Given the description of an element on the screen output the (x, y) to click on. 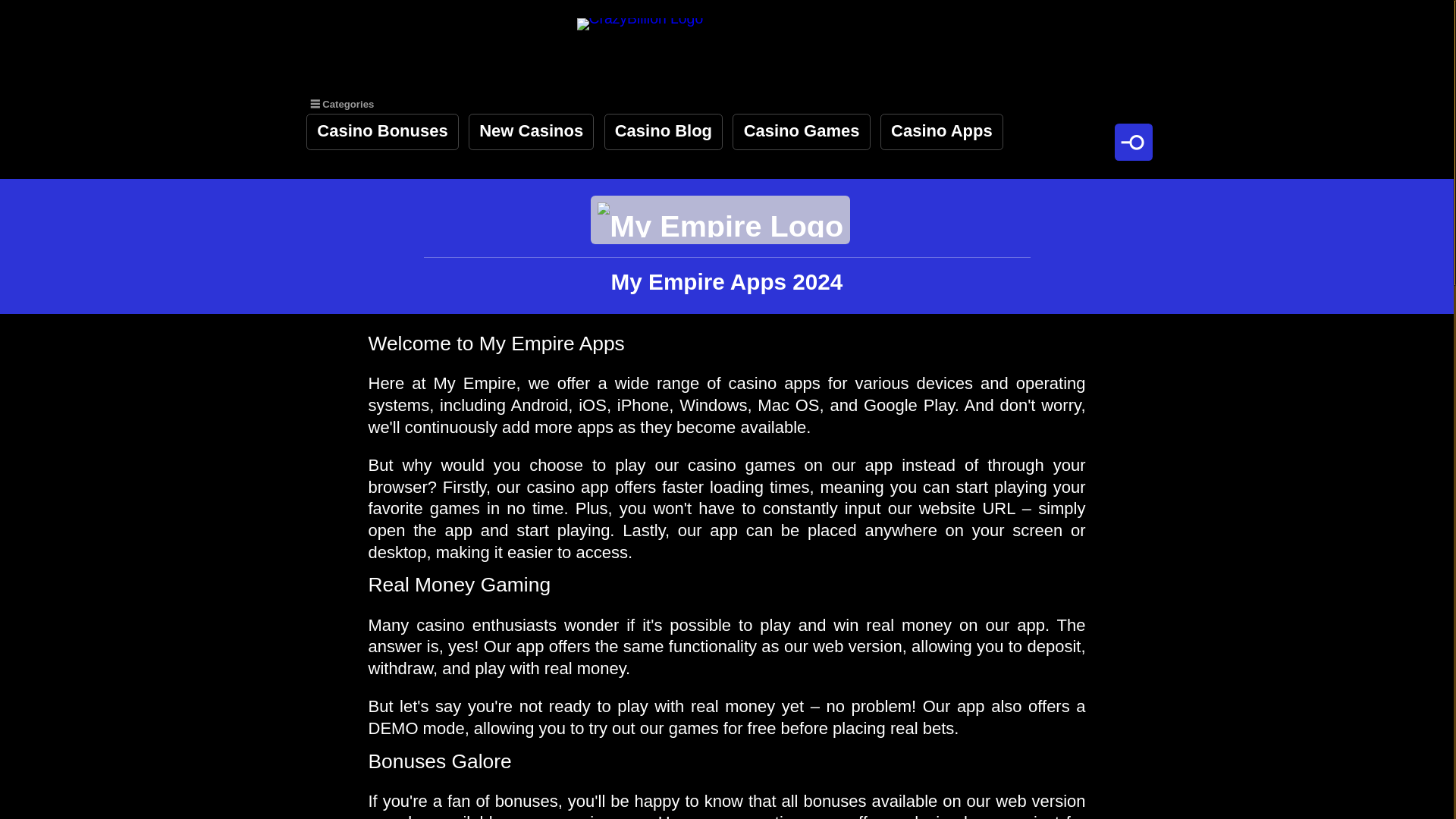
Casino Blog (663, 131)
Casino Bonuses (381, 131)
New Casinos (531, 131)
Casino Apps (941, 131)
Casino Games (800, 131)
